Given the description of an element on the screen output the (x, y) to click on. 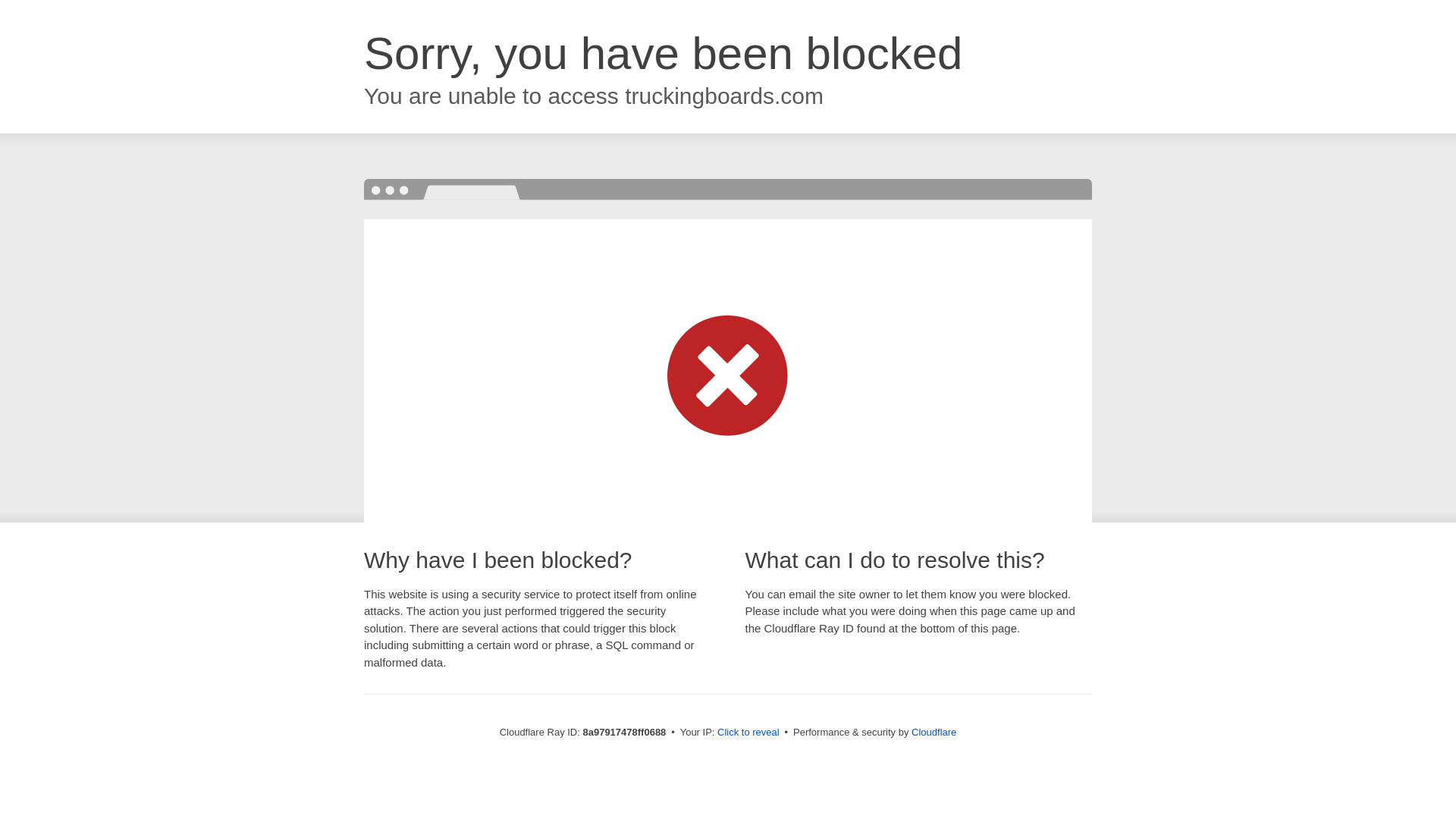
Cloudflare (933, 731)
Click to reveal (747, 732)
